Given the description of an element on the screen output the (x, y) to click on. 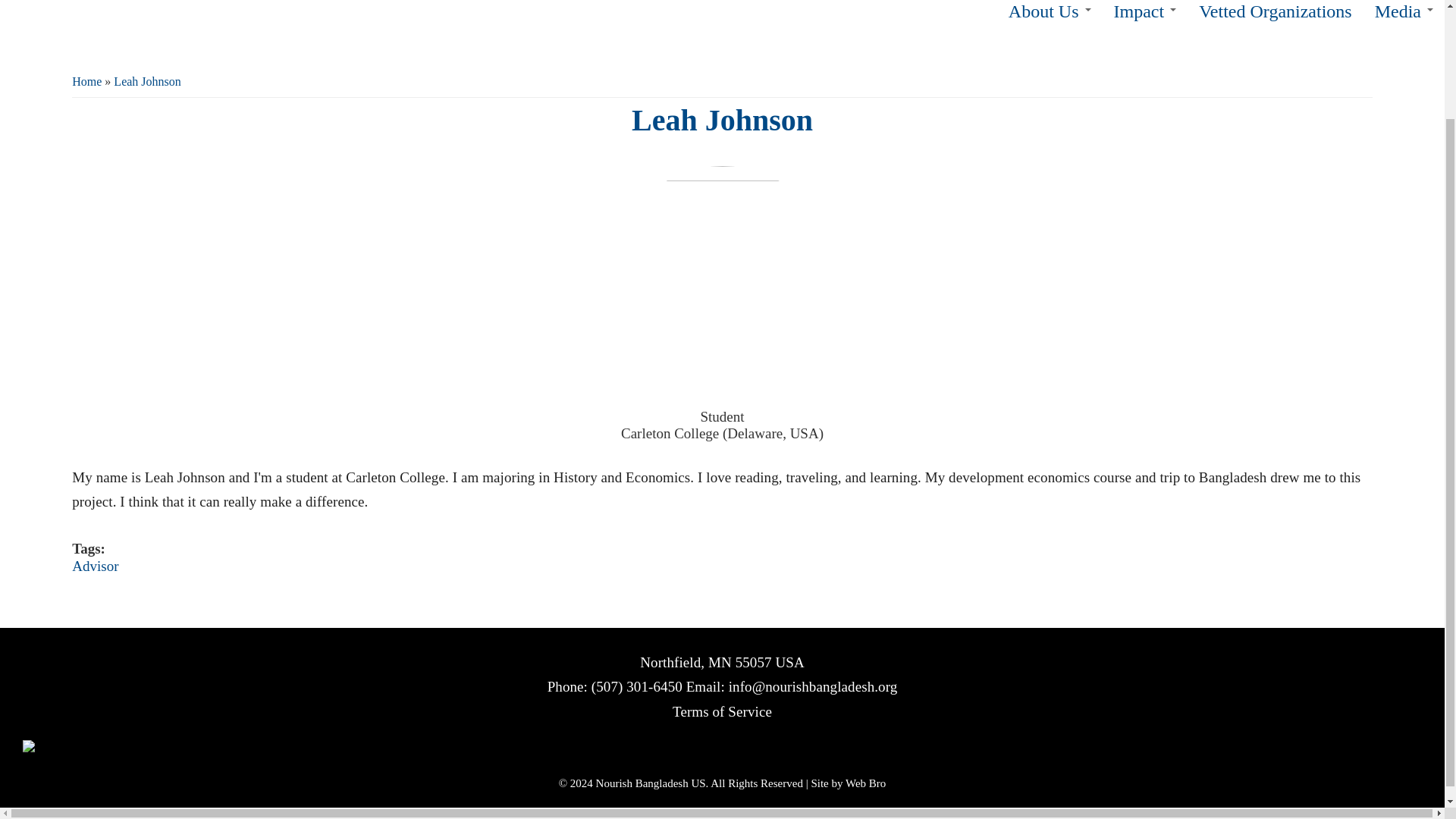
About Us (1049, 18)
Impact (1145, 18)
Vetted Organizations (1275, 18)
Home (136, 4)
Media (1403, 18)
